Given the description of an element on the screen output the (x, y) to click on. 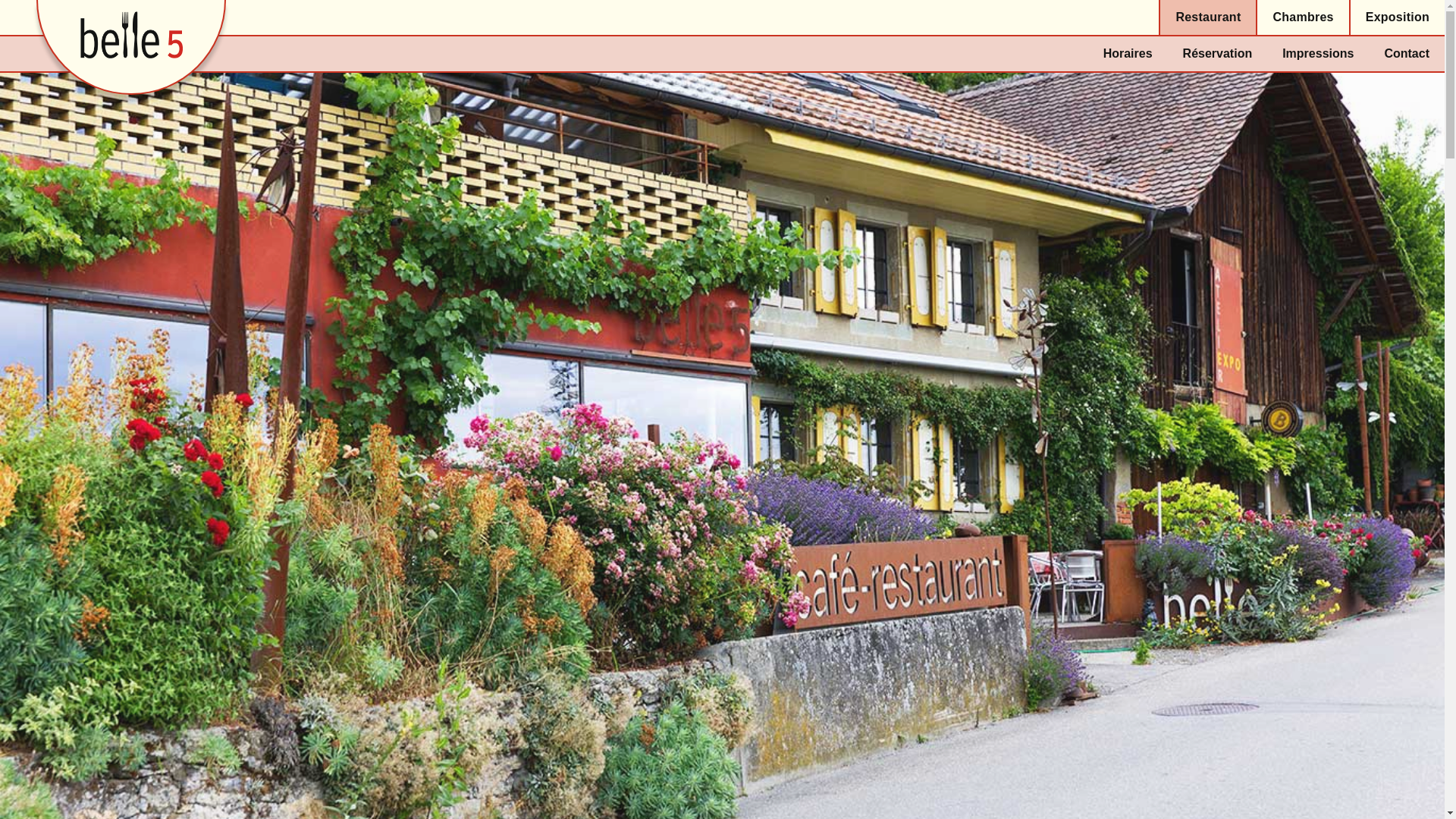
Chambres Element type: text (1302, 18)
Contact Element type: text (1406, 53)
Exposition Element type: text (1397, 18)
Restaurant Element type: text (1207, 18)
Horaires Element type: text (1127, 53)
Impressions Element type: text (1317, 53)
